Given the description of an element on the screen output the (x, y) to click on. 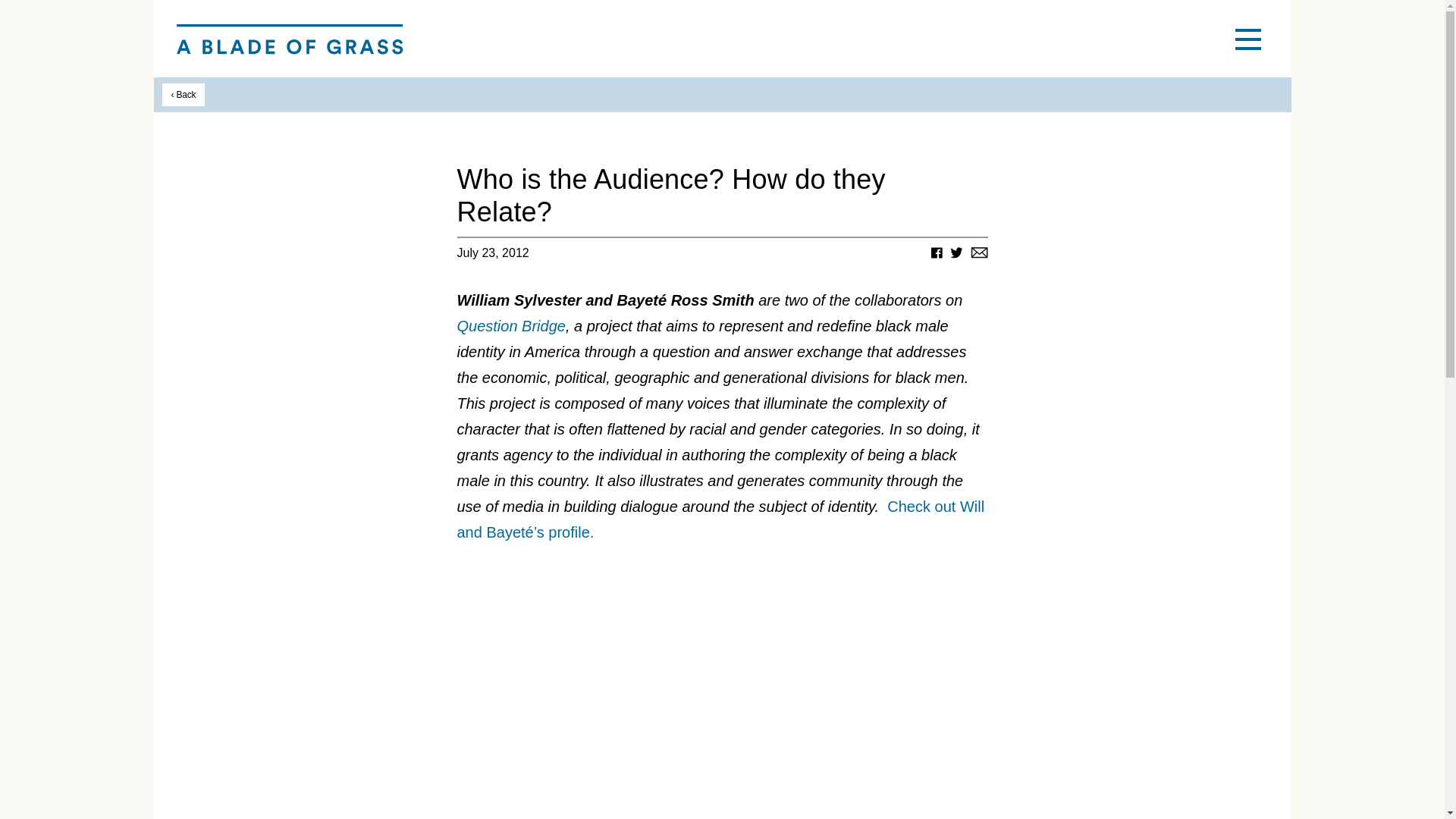
Question Bridge (510, 325)
